Given the description of an element on the screen output the (x, y) to click on. 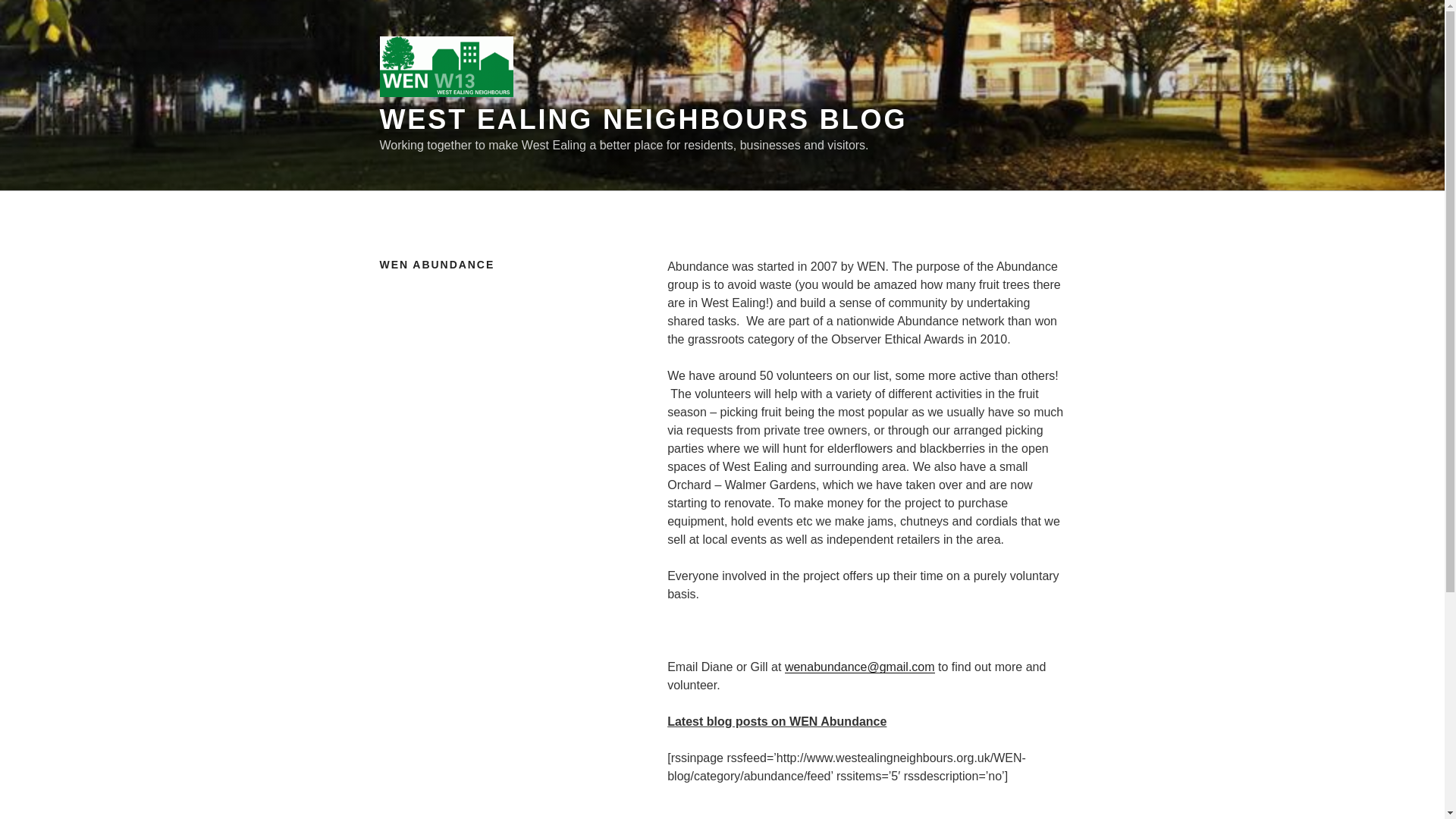
WEST EALING NEIGHBOURS BLOG (642, 119)
